Given the description of an element on the screen output the (x, y) to click on. 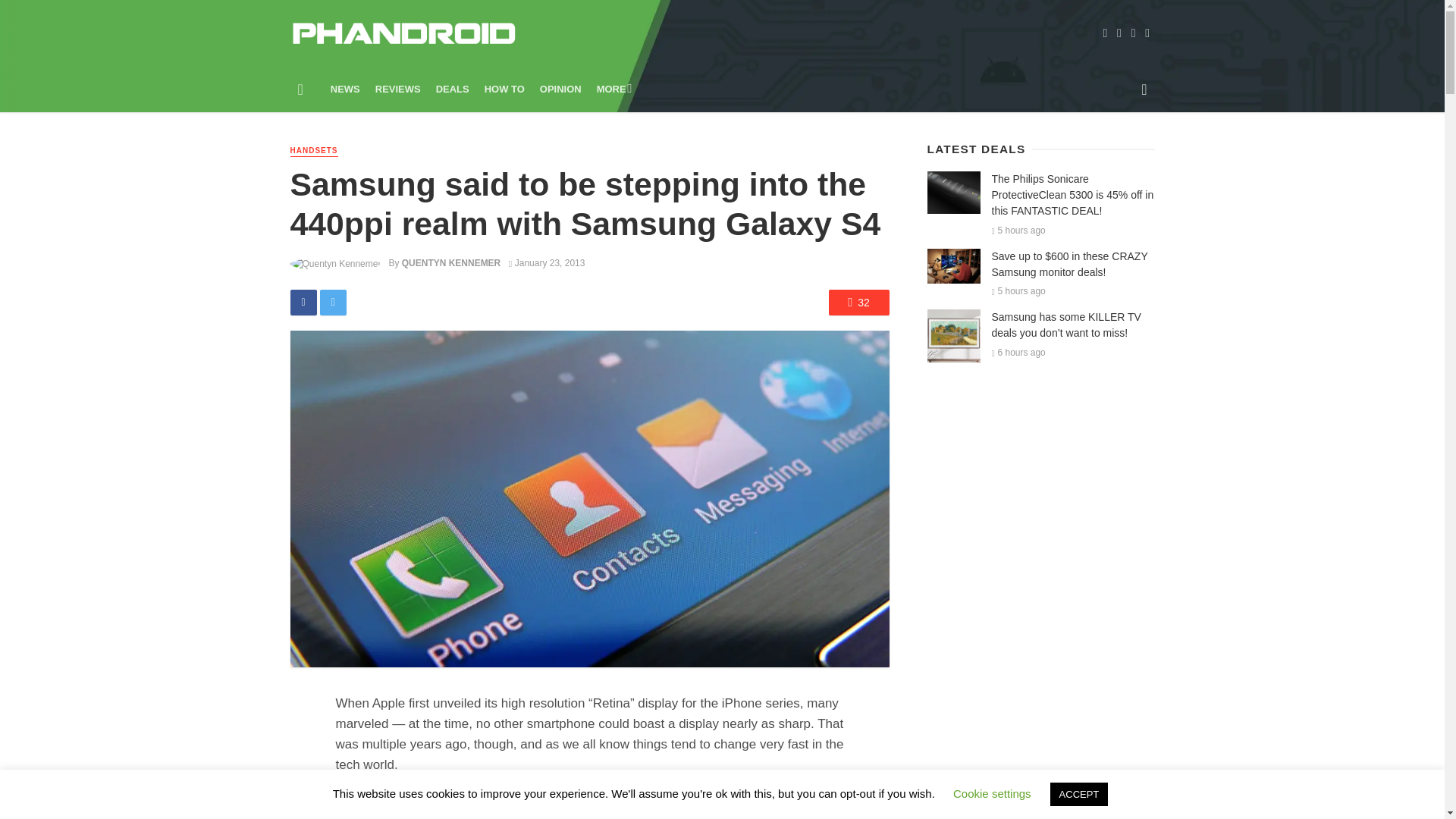
HANDSETS (313, 151)
32 (858, 302)
QUENTYN KENNEMER (450, 262)
HOW TO (504, 89)
DEALS (452, 89)
OPINION (560, 89)
Posts by Quentyn Kennemer (450, 262)
NEWS (345, 89)
REVIEWS (398, 89)
January 23, 2013 at 7:04 pm (546, 262)
MORE (612, 89)
